Given the description of an element on the screen output the (x, y) to click on. 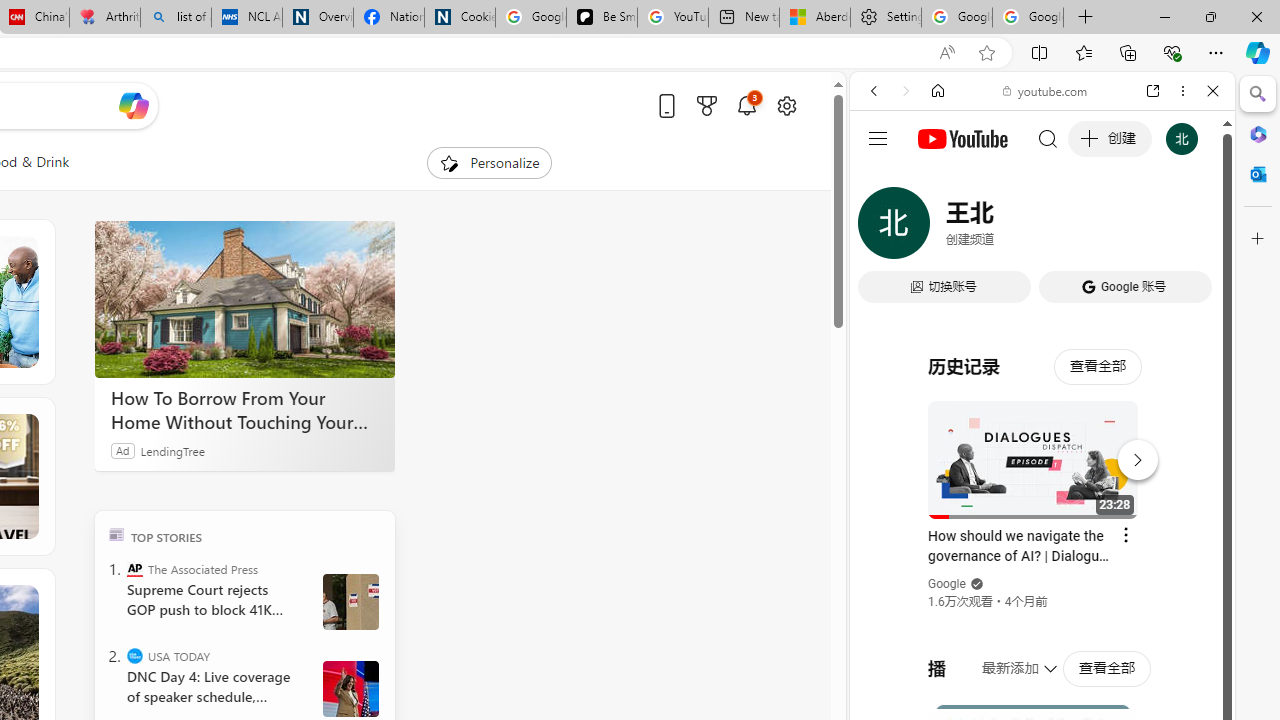
#you (1042, 445)
LendingTree (172, 450)
